Given the description of an element on the screen output the (x, y) to click on. 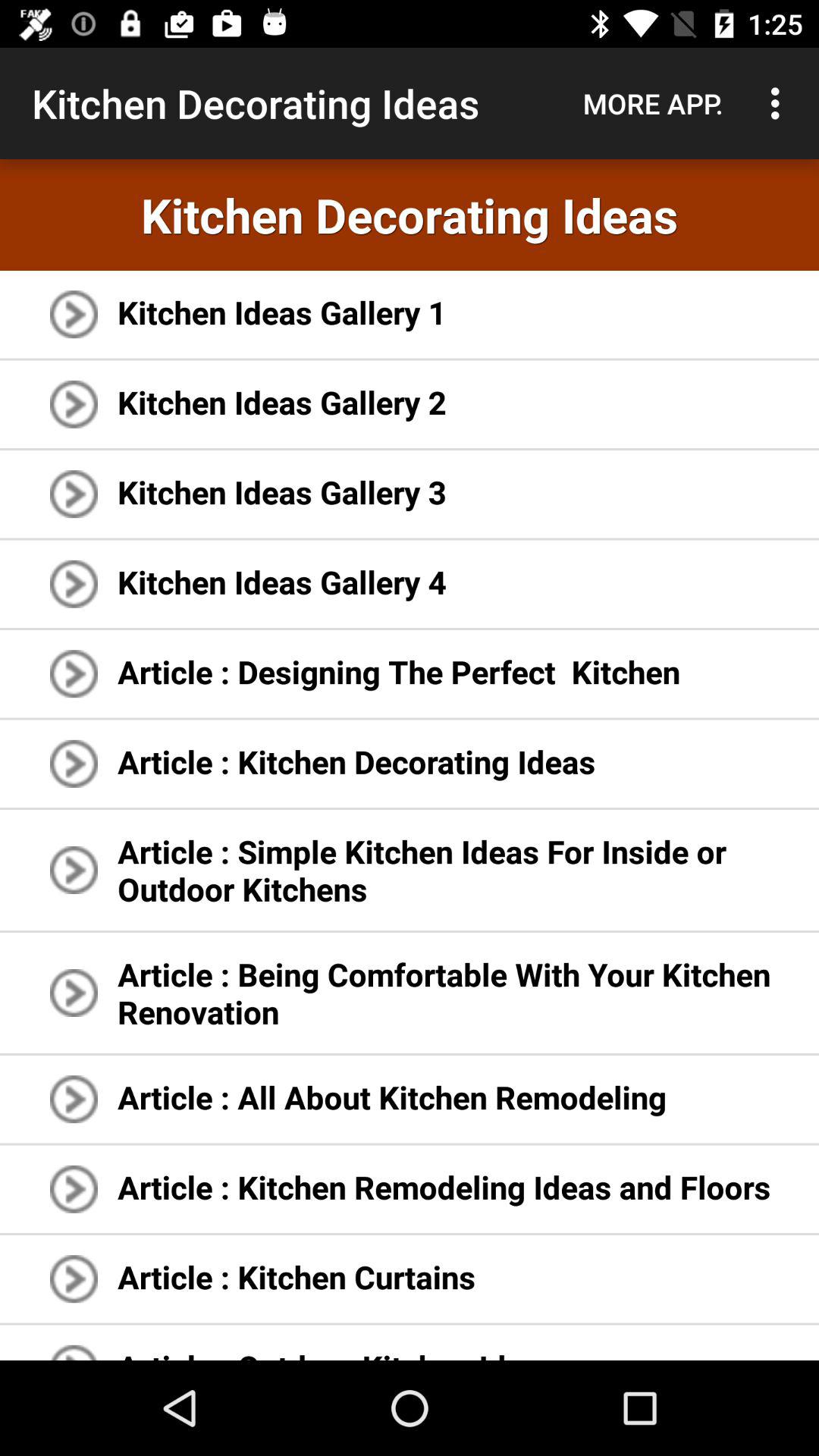
click item next to kitchen decorating ideas item (653, 103)
